Given the description of an element on the screen output the (x, y) to click on. 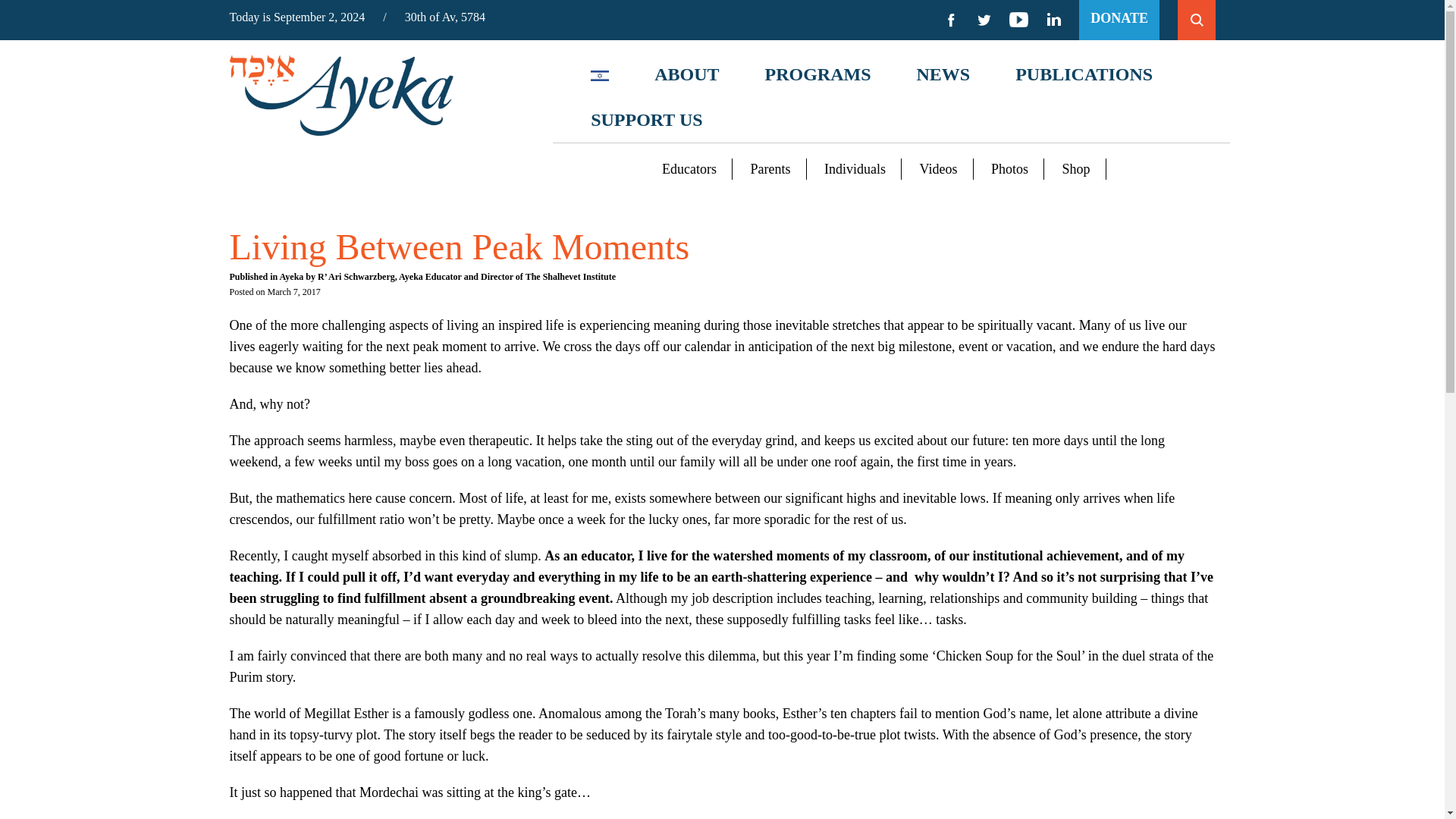
PROGRAMS (817, 74)
DONATE (1119, 17)
SUPPORT US (646, 119)
ABOUT (686, 74)
PUBLICATIONS (1083, 74)
Return to the homepage (340, 95)
NEWS (942, 74)
